Given the description of an element on the screen output the (x, y) to click on. 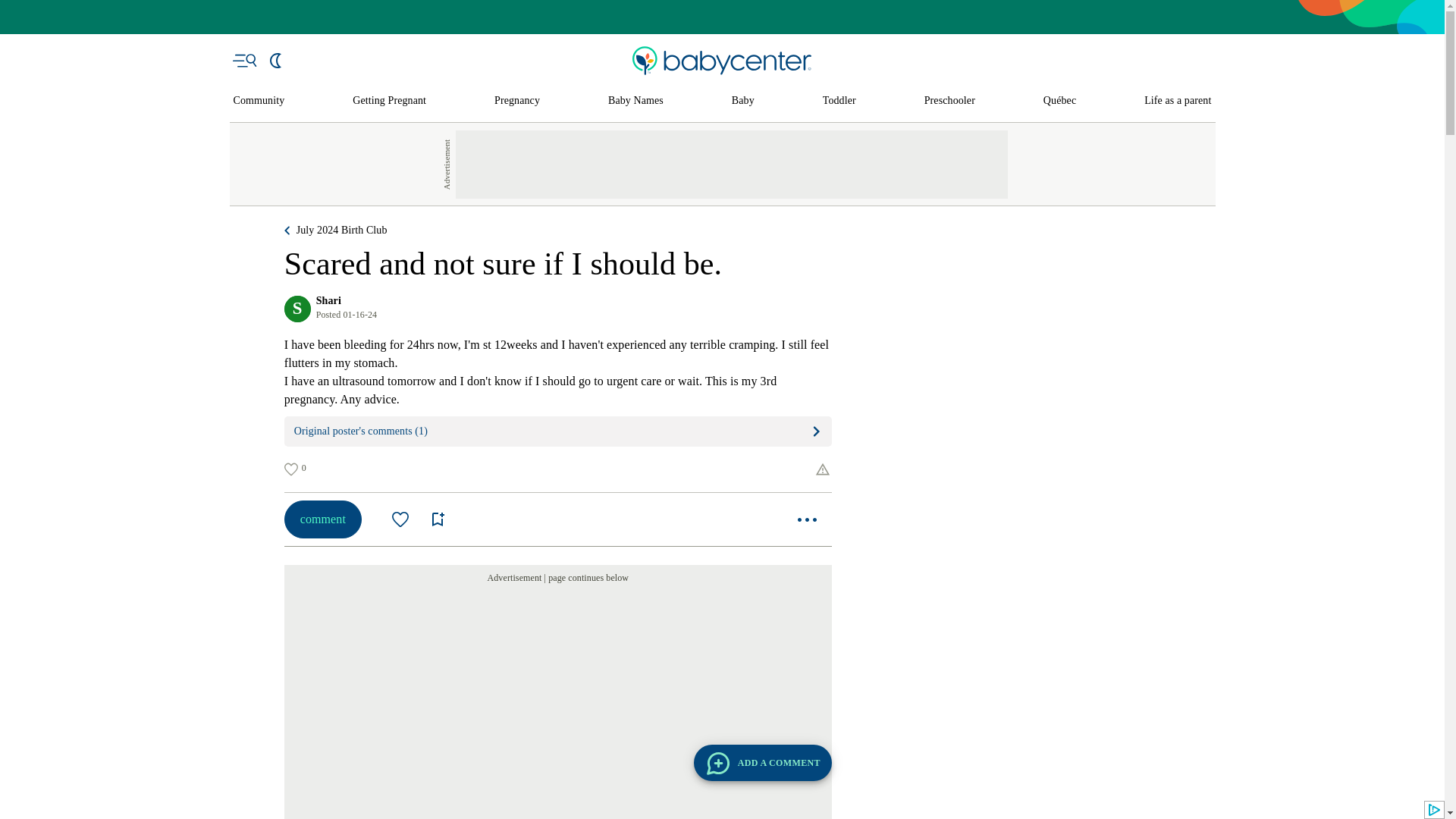
Toddler (839, 101)
Preschooler (949, 101)
Baby Names (635, 101)
Pregnancy (517, 101)
Baby (743, 101)
Life as a parent (1177, 101)
Community (258, 101)
Getting Pregnant (389, 101)
